Given the description of an element on the screen output the (x, y) to click on. 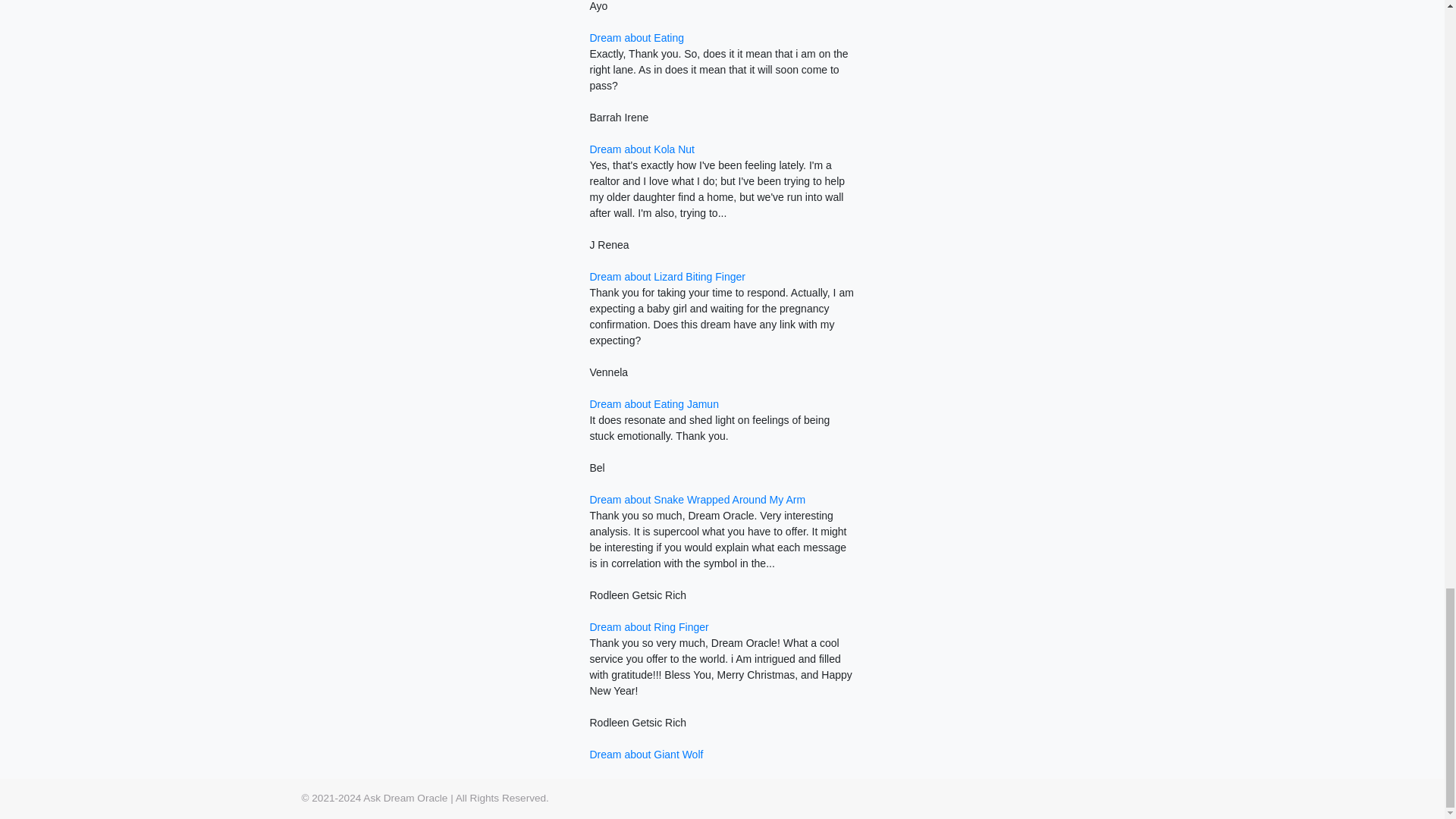
Dream about Ring Finger (648, 626)
Dream about Eating Jamun (653, 404)
Dream about Kola Nut (641, 149)
Dream about Snake Wrapped Around My Arm (697, 499)
Dream about Eating (636, 37)
Dream about Lizard Biting Finger (666, 276)
Dream about Giant Wolf (646, 754)
